Given the description of an element on the screen output the (x, y) to click on. 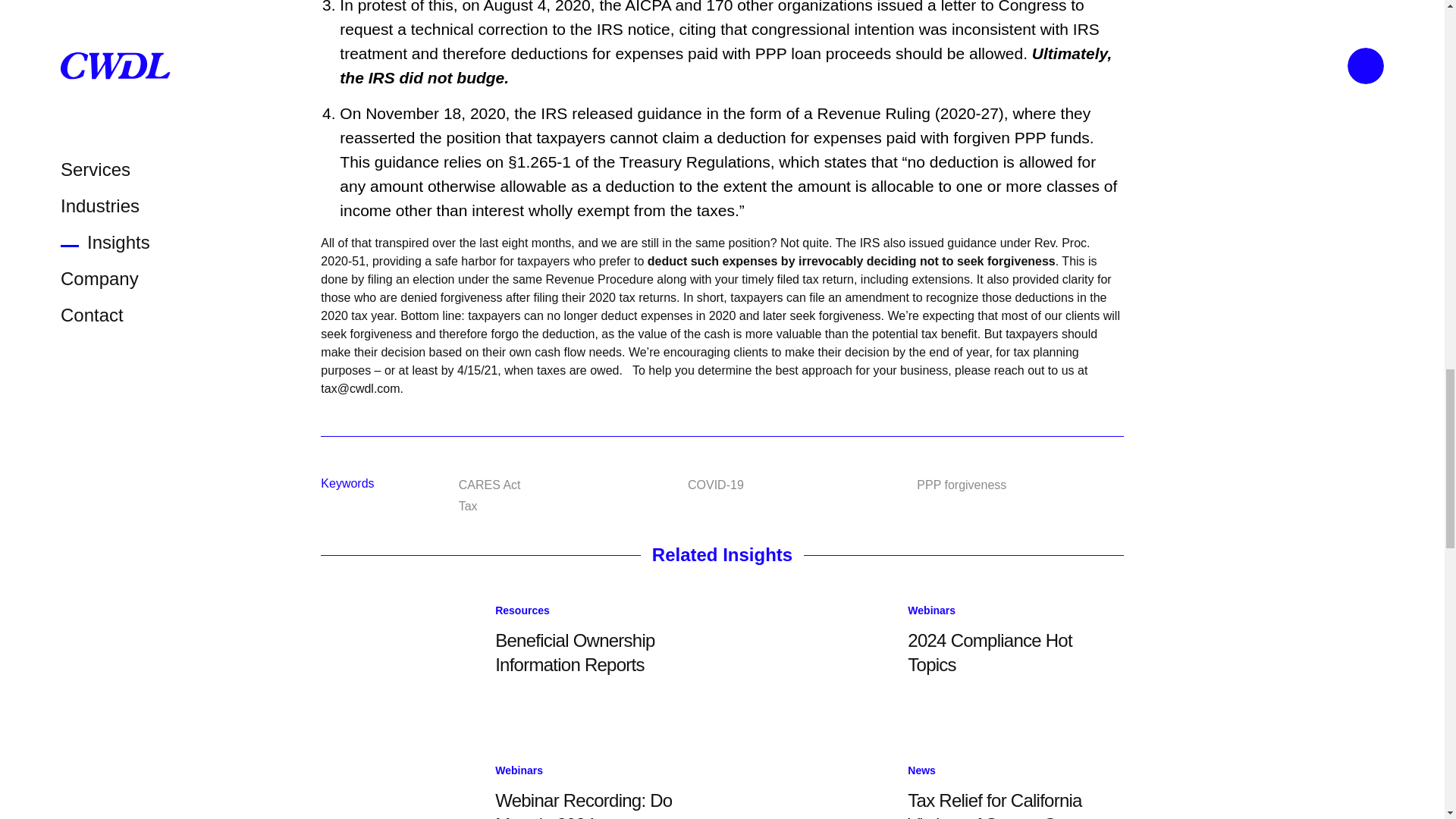
COVID-19 (715, 484)
PPP forgiveness (961, 484)
CARES Act (489, 484)
